Given the description of an element on the screen output the (x, y) to click on. 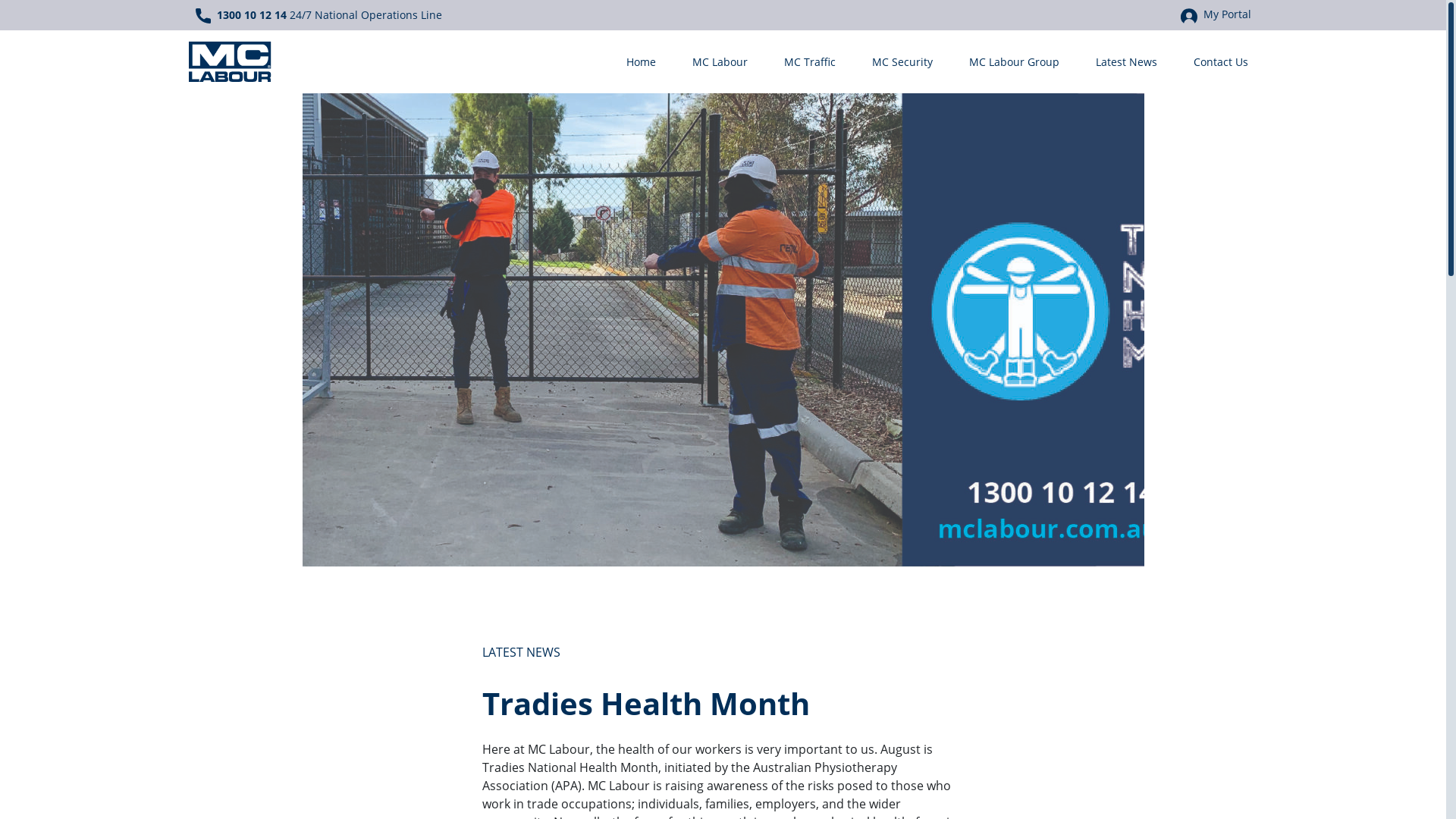
MC Traffic Element type: text (809, 60)
Skip to content Element type: text (43, 8)
My Portal Element type: text (1214, 14)
MC Security Element type: text (901, 60)
LATEST NEWS Element type: text (521, 651)
1300 10 12 14 24/7 National Operations Line Element type: text (318, 14)
Contact Us Element type: text (1217, 60)
Home Element type: text (641, 60)
MC Labour Group Element type: text (1013, 60)
MC Labour Element type: text (719, 60)
Latest News Element type: text (1125, 60)
